Given the description of an element on the screen output the (x, y) to click on. 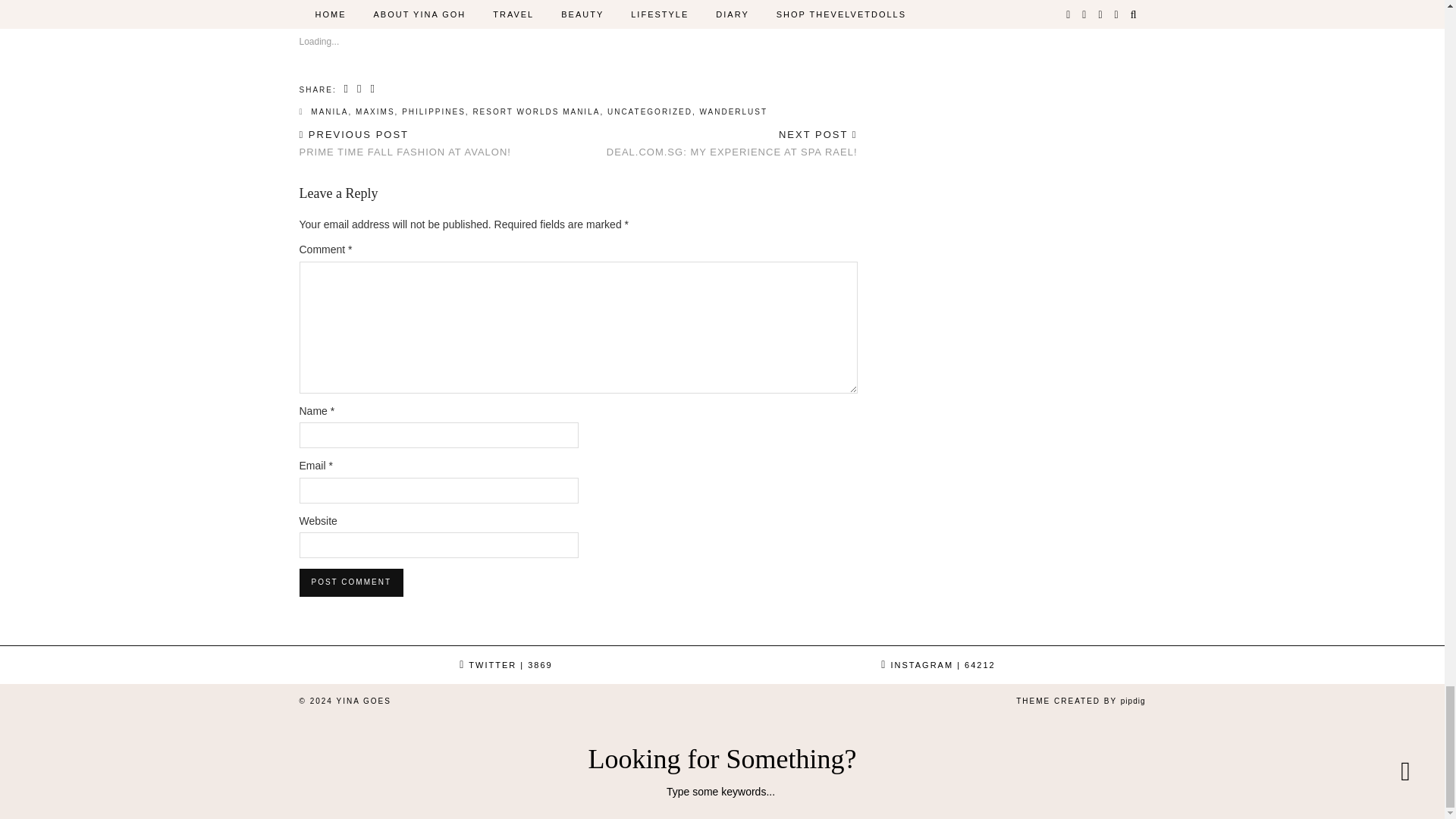
Share on Twitter (359, 89)
Post Comment (350, 582)
Share on Pinterest (372, 89)
Share on Facebook (346, 89)
